Given the description of an element on the screen output the (x, y) to click on. 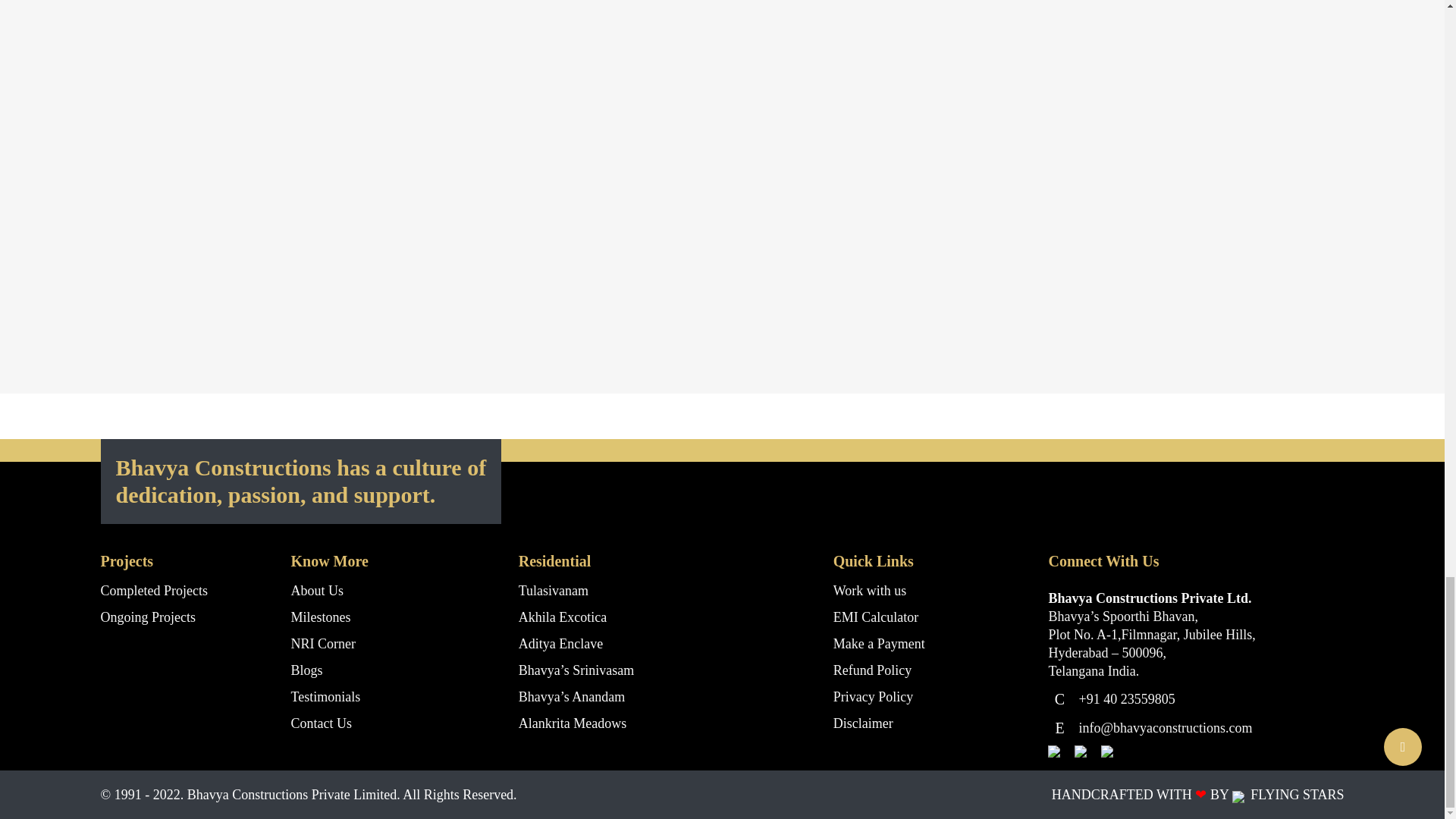
Akhila Excotica (562, 616)
Milestones (320, 616)
About Us (317, 590)
Completed Projects (153, 590)
Tulasivanam (553, 590)
Blogs (307, 670)
Testimonials (326, 696)
Connect With Us (1360, 359)
Ongoing Projects (147, 616)
Contact Us (321, 723)
